Given the description of an element on the screen output the (x, y) to click on. 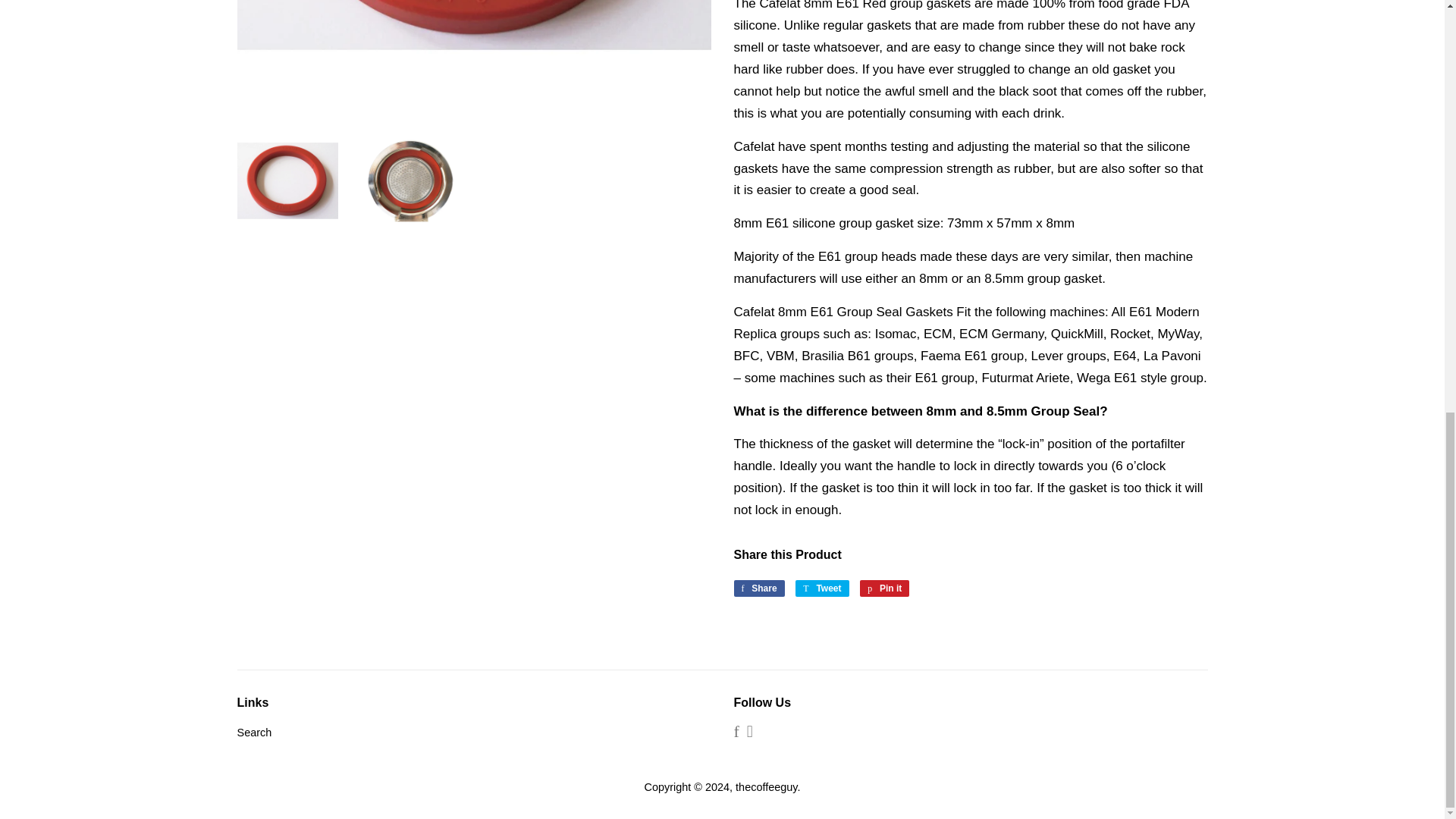
Tweet on Twitter (821, 588)
Pin on Pinterest (884, 588)
Share on Facebook (758, 588)
